Given the description of an element on the screen output the (x, y) to click on. 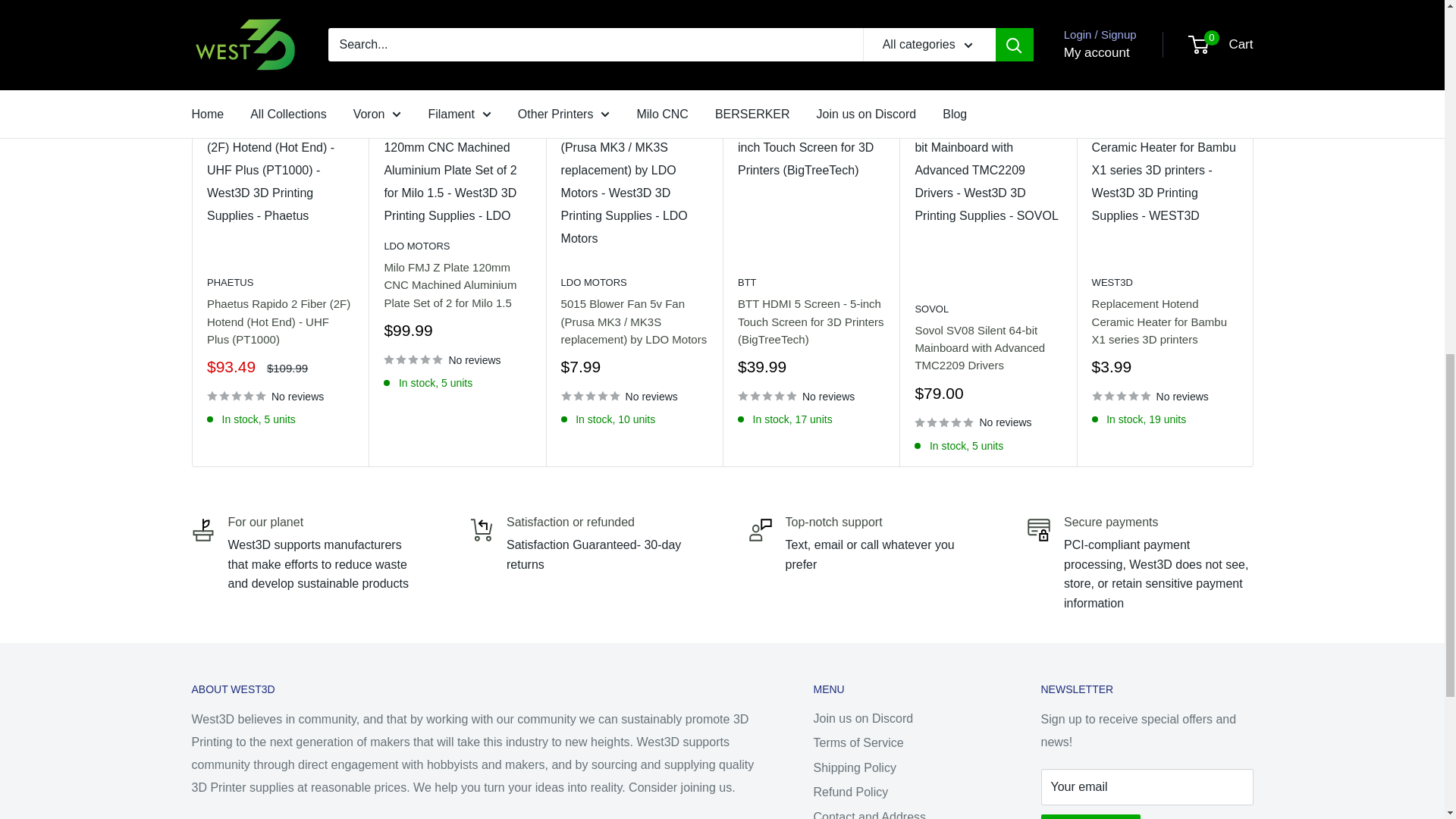
Decrease quantity by 1 (831, 6)
Increase quantity by 1 (912, 6)
1 (871, 6)
